Given the description of an element on the screen output the (x, y) to click on. 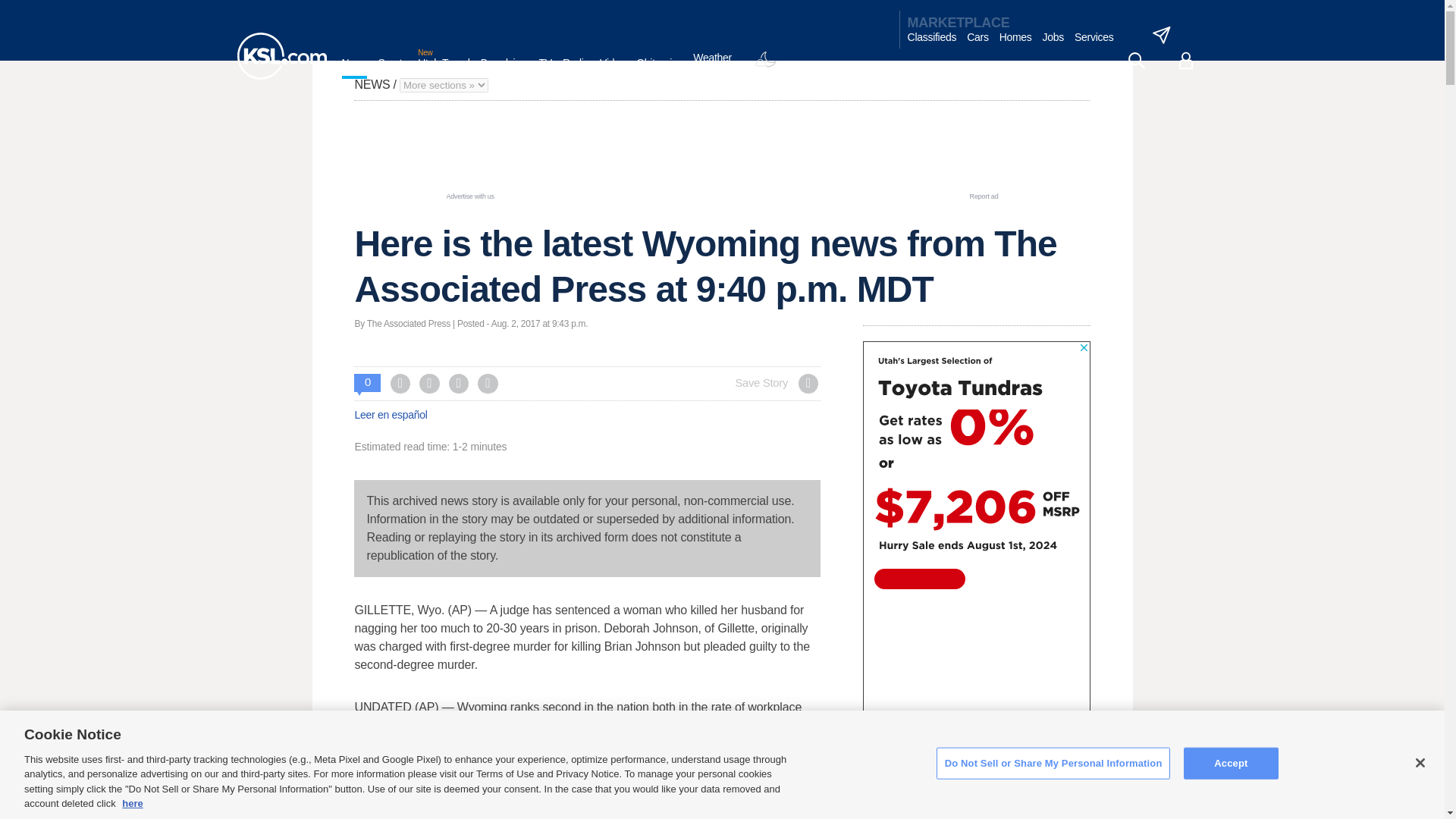
search (1135, 60)
account - logged out (1185, 60)
3rd party ad content (721, 156)
KSL homepage (280, 55)
